Given the description of an element on the screen output the (x, y) to click on. 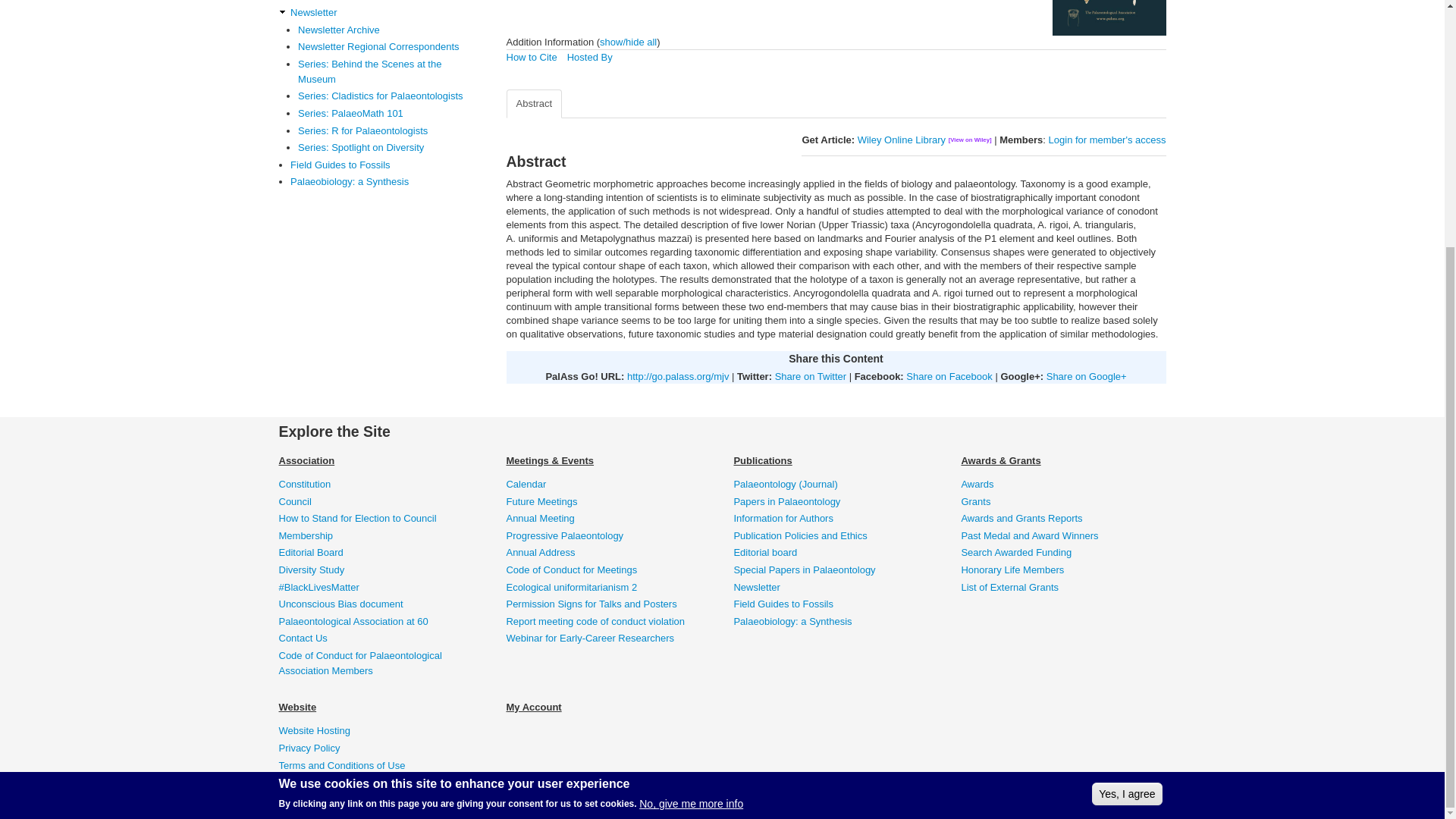
Special Papers in Palaeontology Archive (385, 1)
Newsletter Regional Correspondents (385, 46)
Series: Spotlight on Diversity (385, 147)
Field Guides to Fossils (384, 165)
Series: Cladistics for Palaeontologists (385, 96)
Newsletter Archive (385, 29)
Series: Behind the Scenes at the Museum (385, 71)
Newsletter (384, 12)
Series: R for Palaeontologists (385, 130)
Palaeobiology: a Synthesis (384, 181)
Series: PalaeoMath 101 (385, 113)
